Given the description of an element on the screen output the (x, y) to click on. 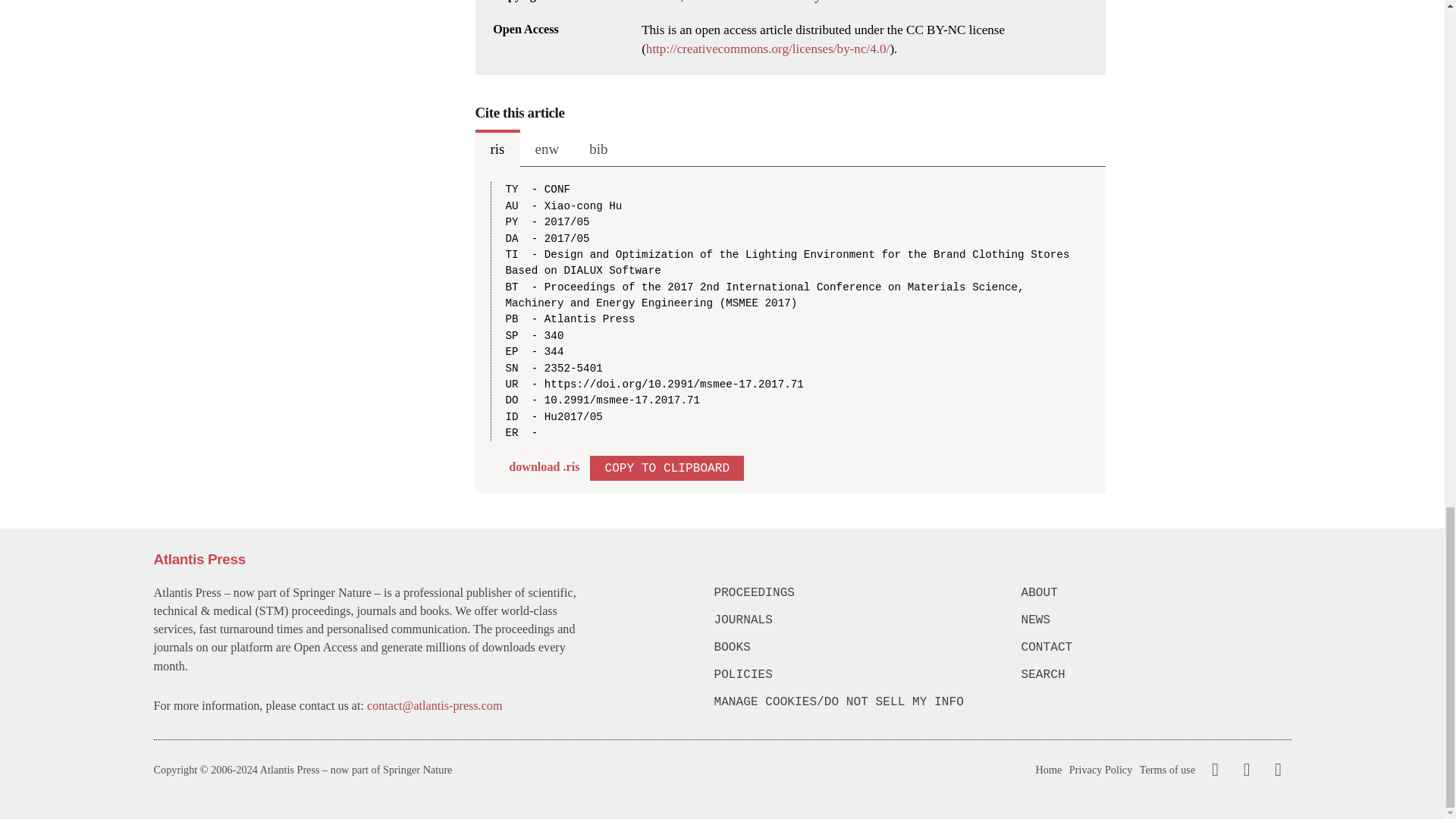
PROCEEDINGS (849, 592)
ABOUT (1155, 592)
LinkedIn (1275, 769)
JOURNALS (849, 620)
POLICIES (849, 674)
enw (547, 148)
BOOKS (849, 647)
COPY TO CLIPBOARD (666, 467)
NEWS (1155, 620)
ris (496, 148)
download .ris (543, 466)
CONTACT (1155, 647)
Facebook (1215, 769)
bib (598, 148)
Atlantis Press (198, 559)
